Given the description of an element on the screen output the (x, y) to click on. 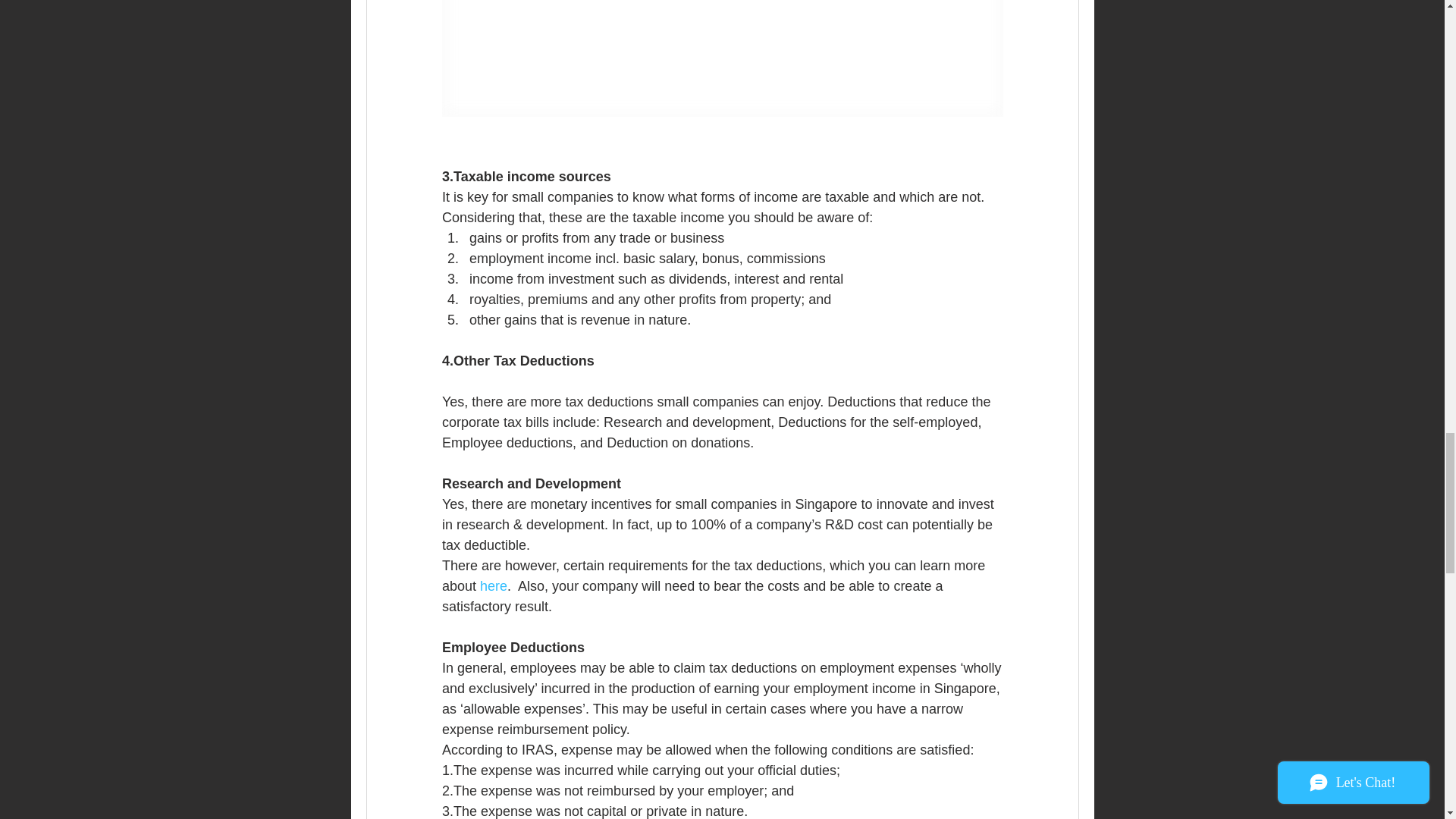
here (493, 585)
